Given the description of an element on the screen output the (x, y) to click on. 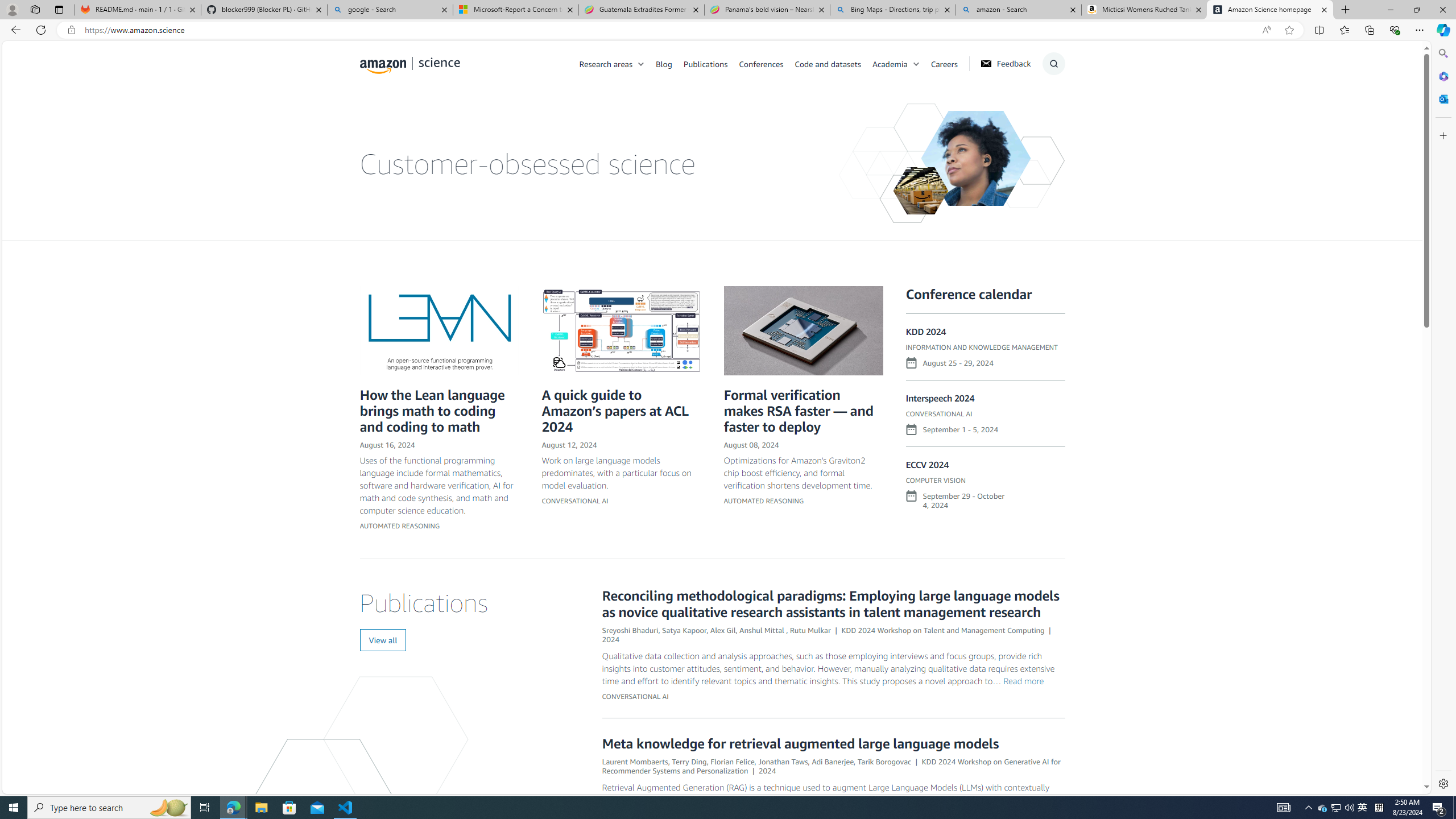
Satya Kapoor (684, 629)
Careers (944, 63)
Terry Ding (689, 760)
amazon-science-logo.svg (409, 65)
Read more (1023, 680)
Open Sub Navigation (916, 63)
Interspeech 2024 (940, 398)
Tarik Borogovac (884, 760)
